Given the description of an element on the screen output the (x, y) to click on. 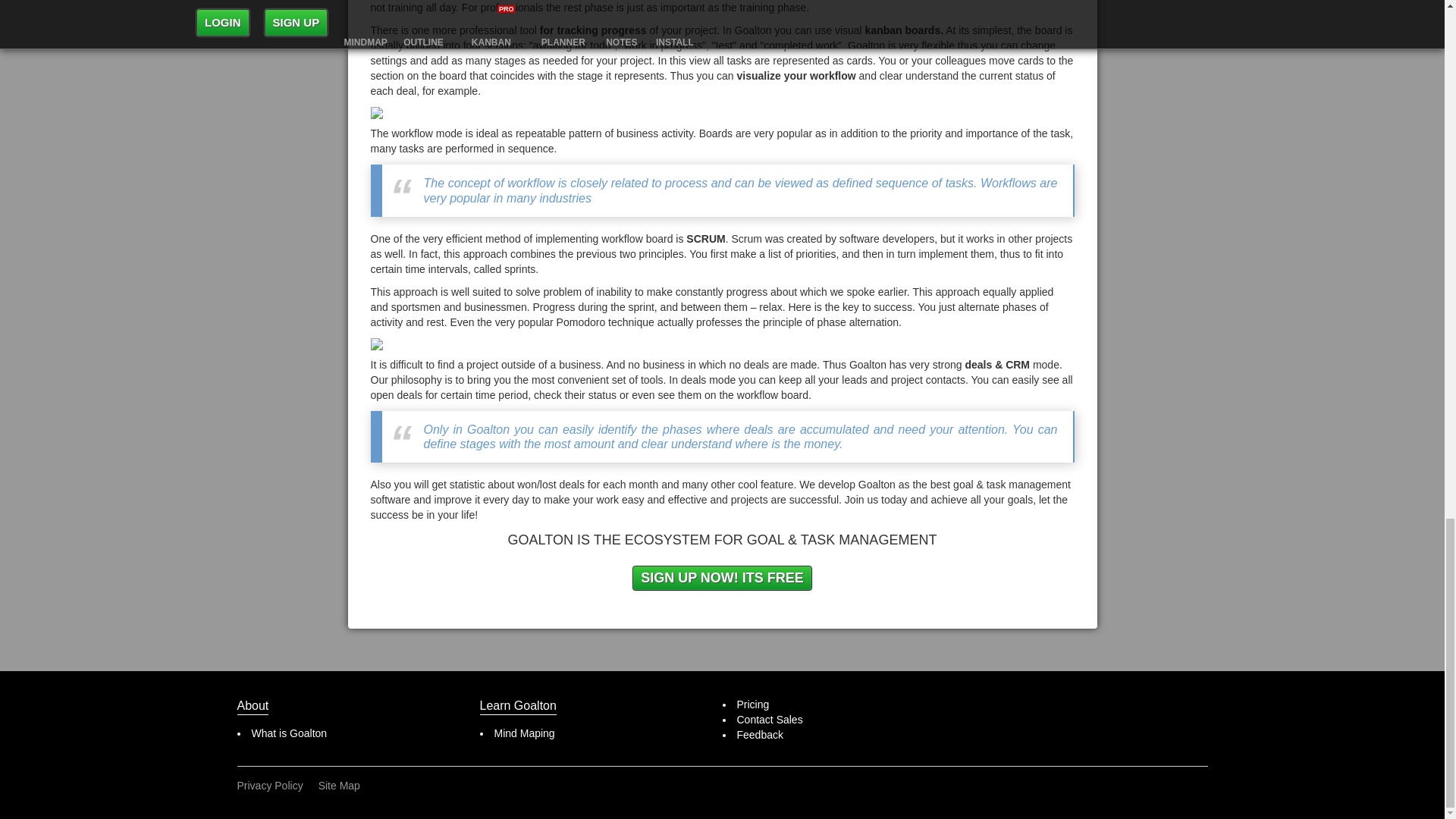
What is Goalton (289, 733)
Mind Maping (524, 733)
Feedback (759, 734)
Site Map (338, 785)
Pricing (753, 704)
SIGN UP NOW! ITS FREE (721, 577)
Privacy Policy (268, 785)
Contact Sales (769, 719)
